Given the description of an element on the screen output the (x, y) to click on. 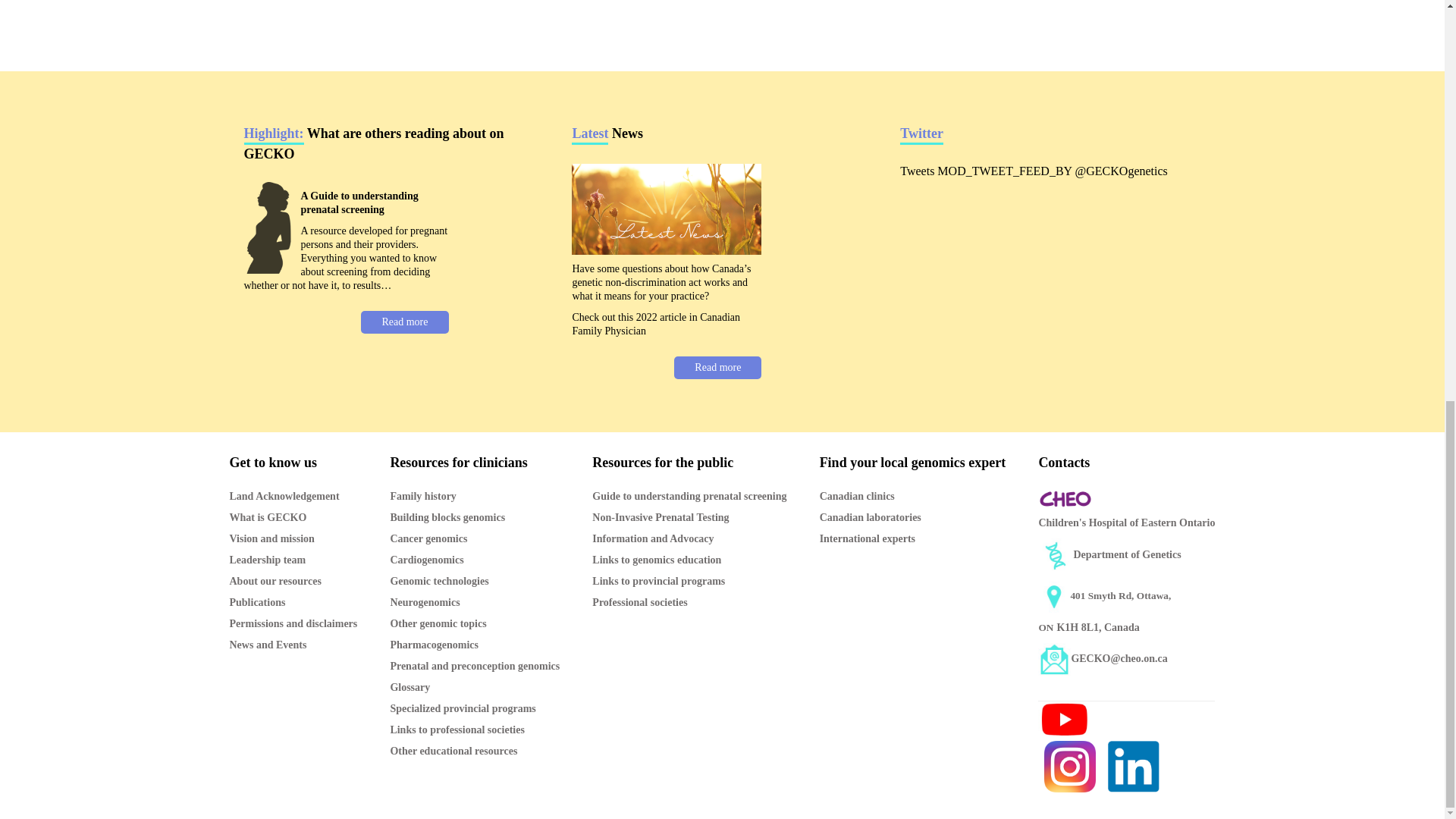
GECKO Instagram (1069, 765)
GECKO LinkedIn (1133, 765)
